Given the description of an element on the screen output the (x, y) to click on. 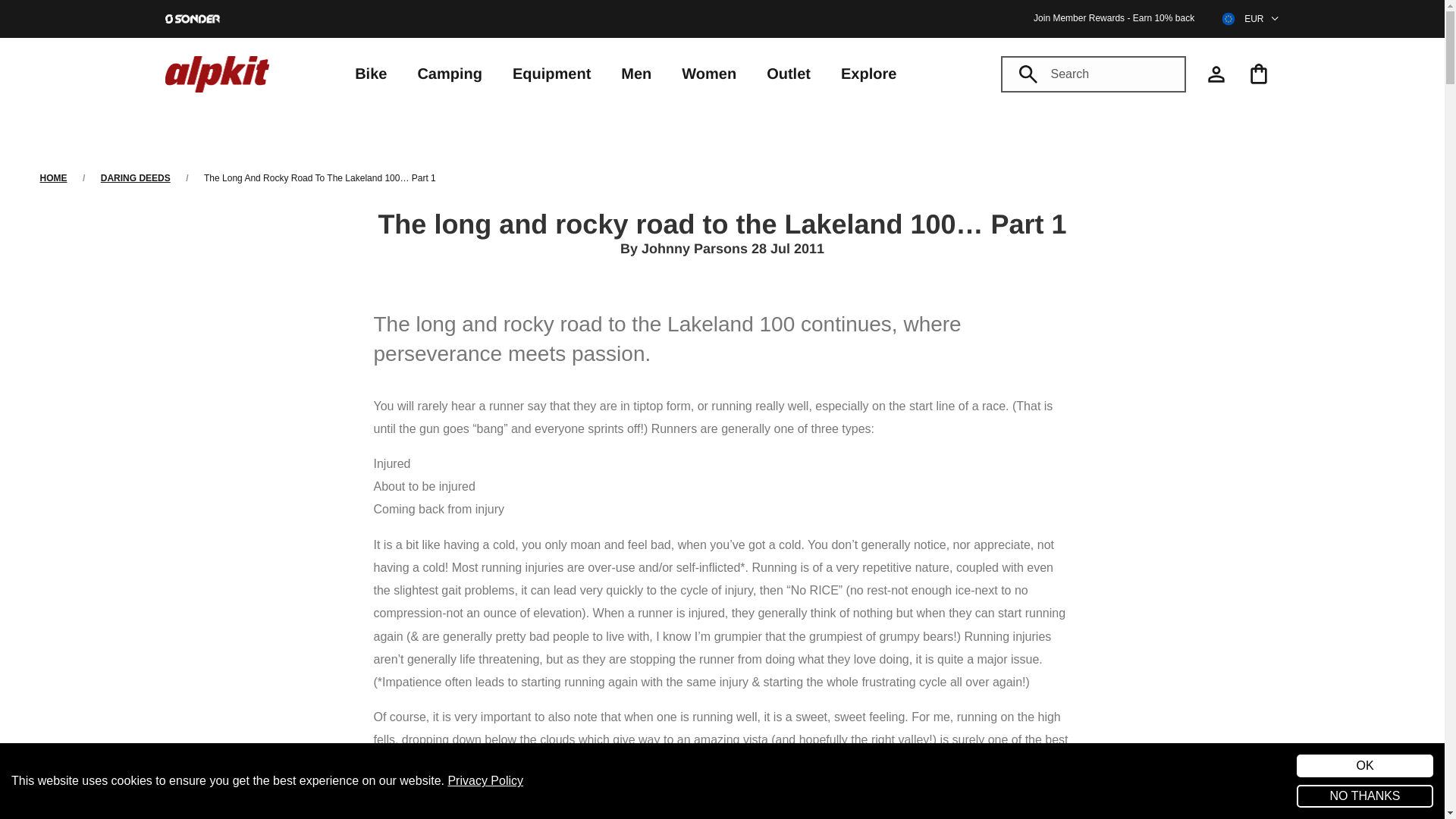
OK (1364, 765)
NO THANKS (1364, 795)
Daring Deeds (135, 178)
Privacy Policy (484, 780)
SKIP TO CONTENT (64, 7)
Home (52, 178)
